Given the description of an element on the screen output the (x, y) to click on. 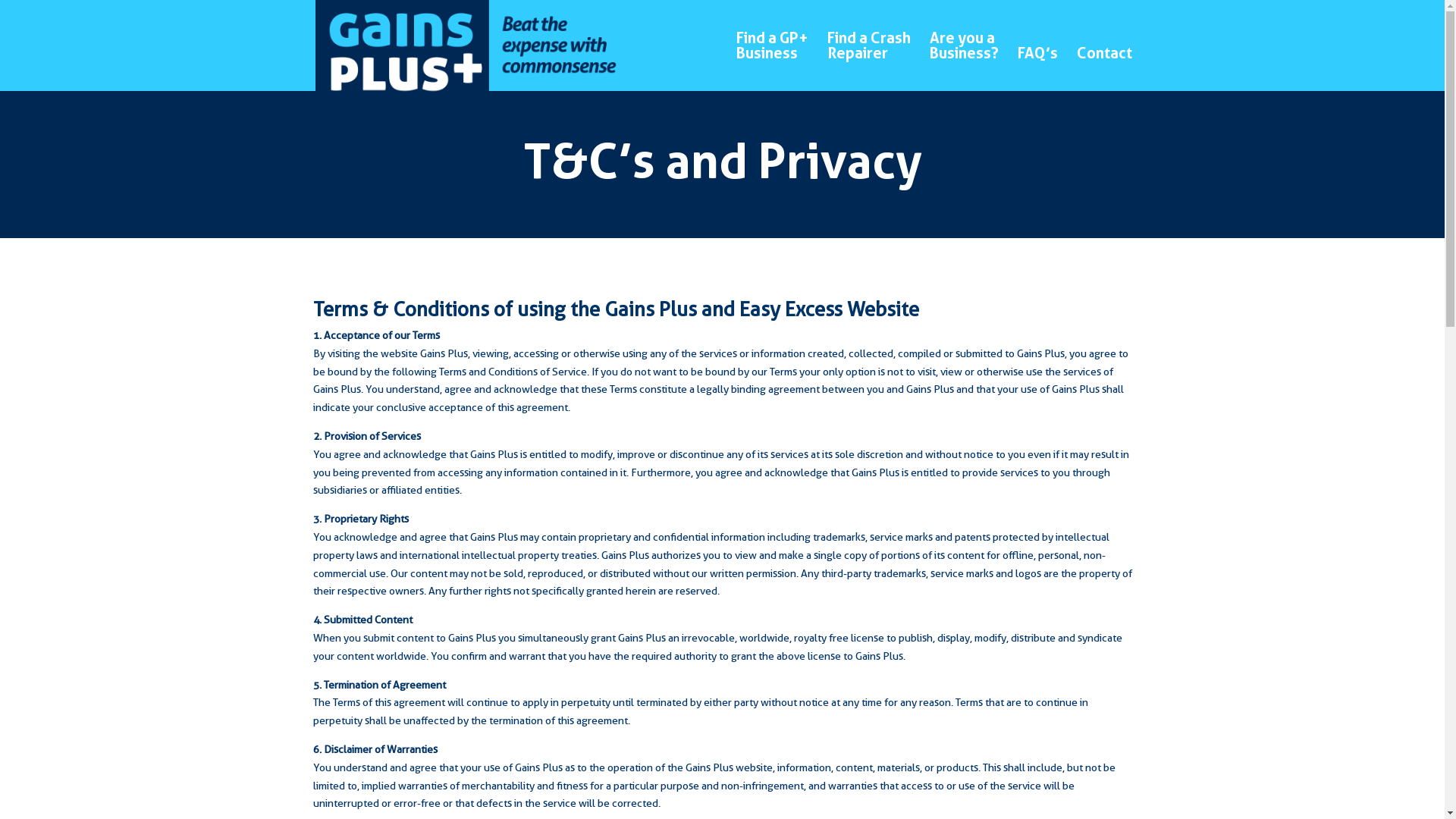
Are you a
Business? Element type: text (963, 60)
Find a Crash
Repairer Element type: text (868, 60)
Contact Element type: text (1104, 68)
Find a GP+
Business Element type: text (771, 60)
